Given the description of an element on the screen output the (x, y) to click on. 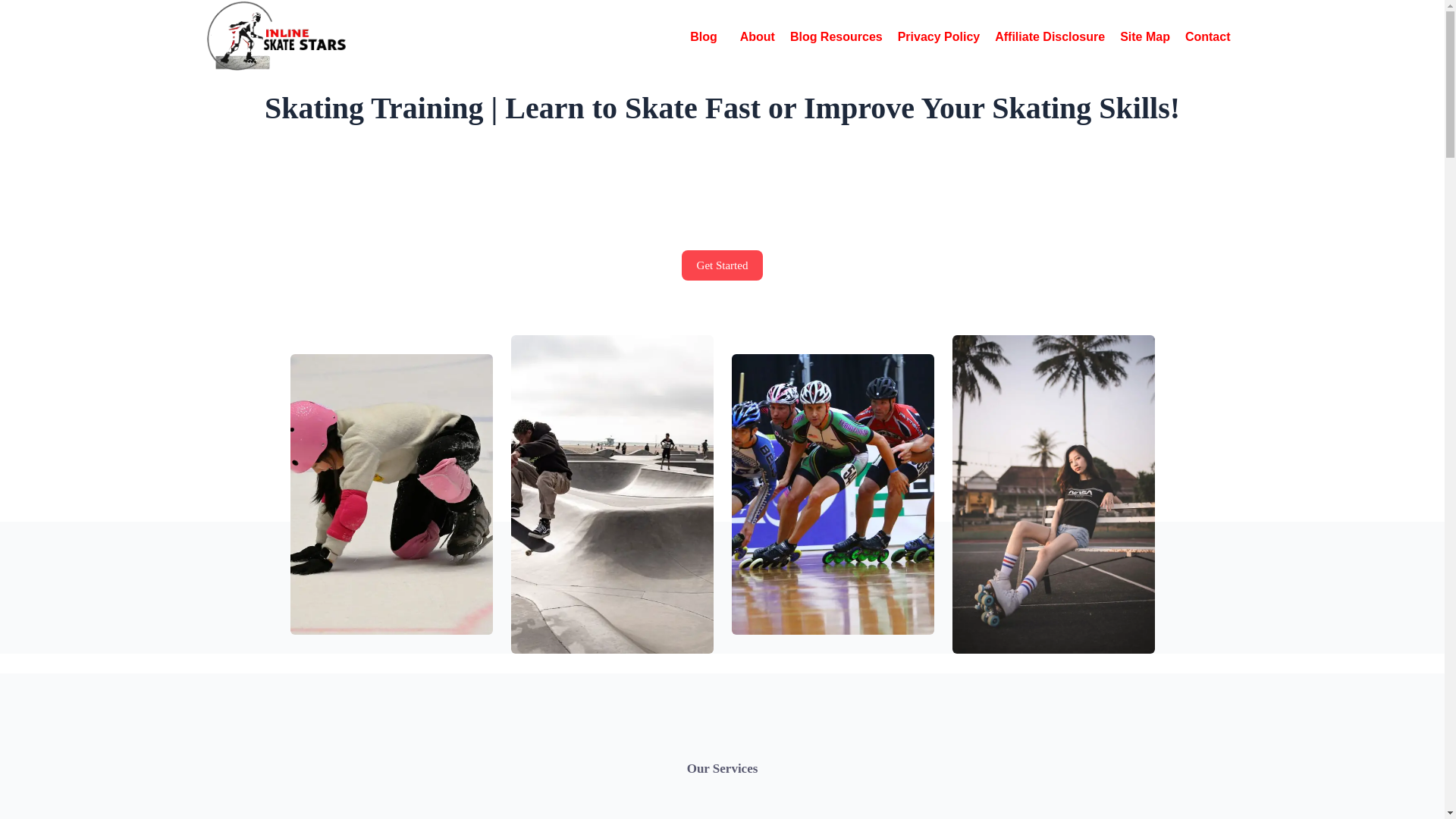
Blog (707, 36)
Affiliate Disclosure (1049, 36)
Site Map (1144, 36)
About (757, 36)
Get Started (721, 265)
Blog Resources (836, 36)
Contact (1208, 36)
Privacy Policy (938, 36)
Skip to content (15, 7)
